Given the description of an element on the screen output the (x, y) to click on. 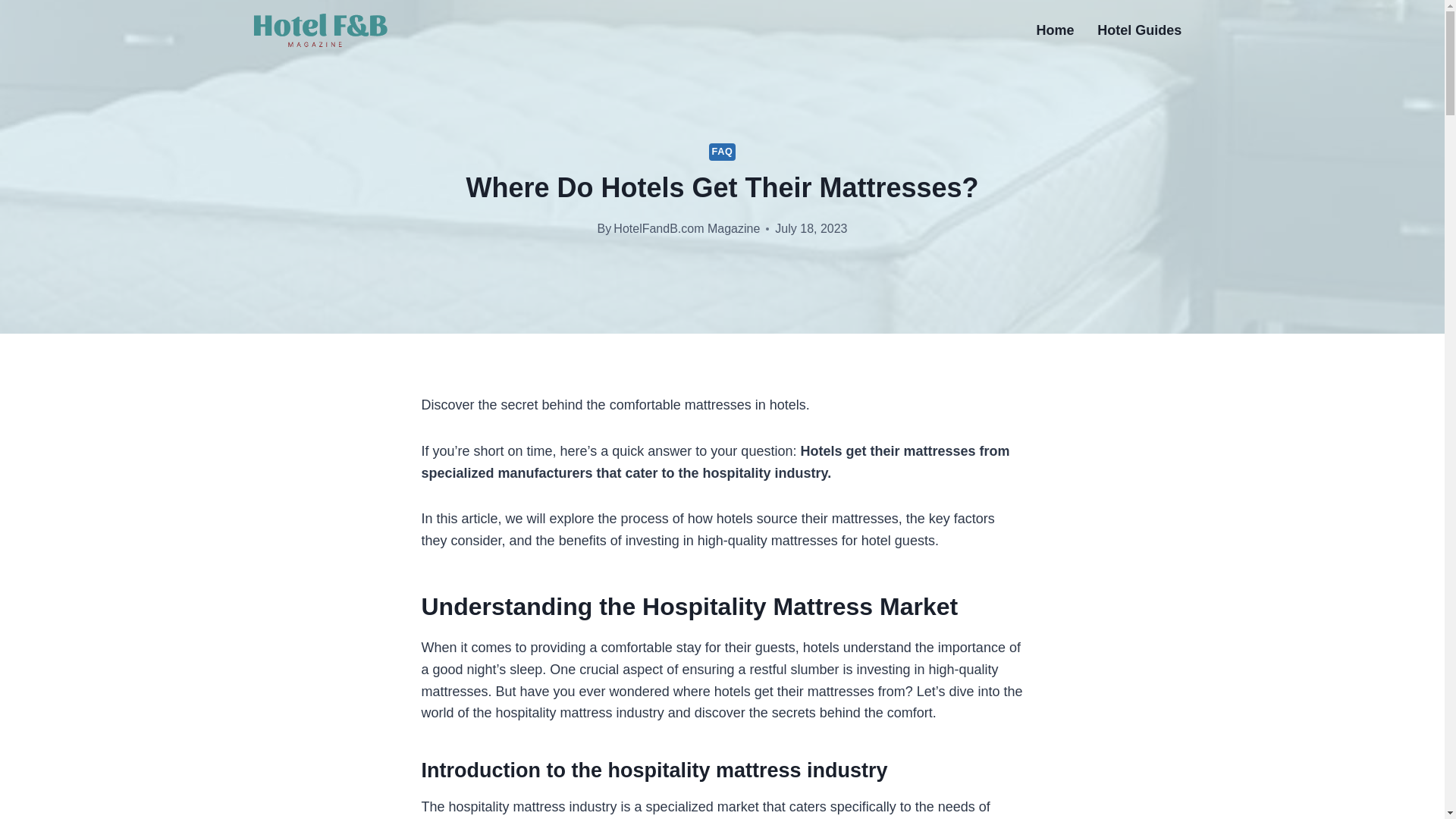
Hotel Guides (1139, 30)
Home (1055, 30)
HotelFandB.com Magazine (686, 228)
FAQ (722, 151)
